Given the description of an element on the screen output the (x, y) to click on. 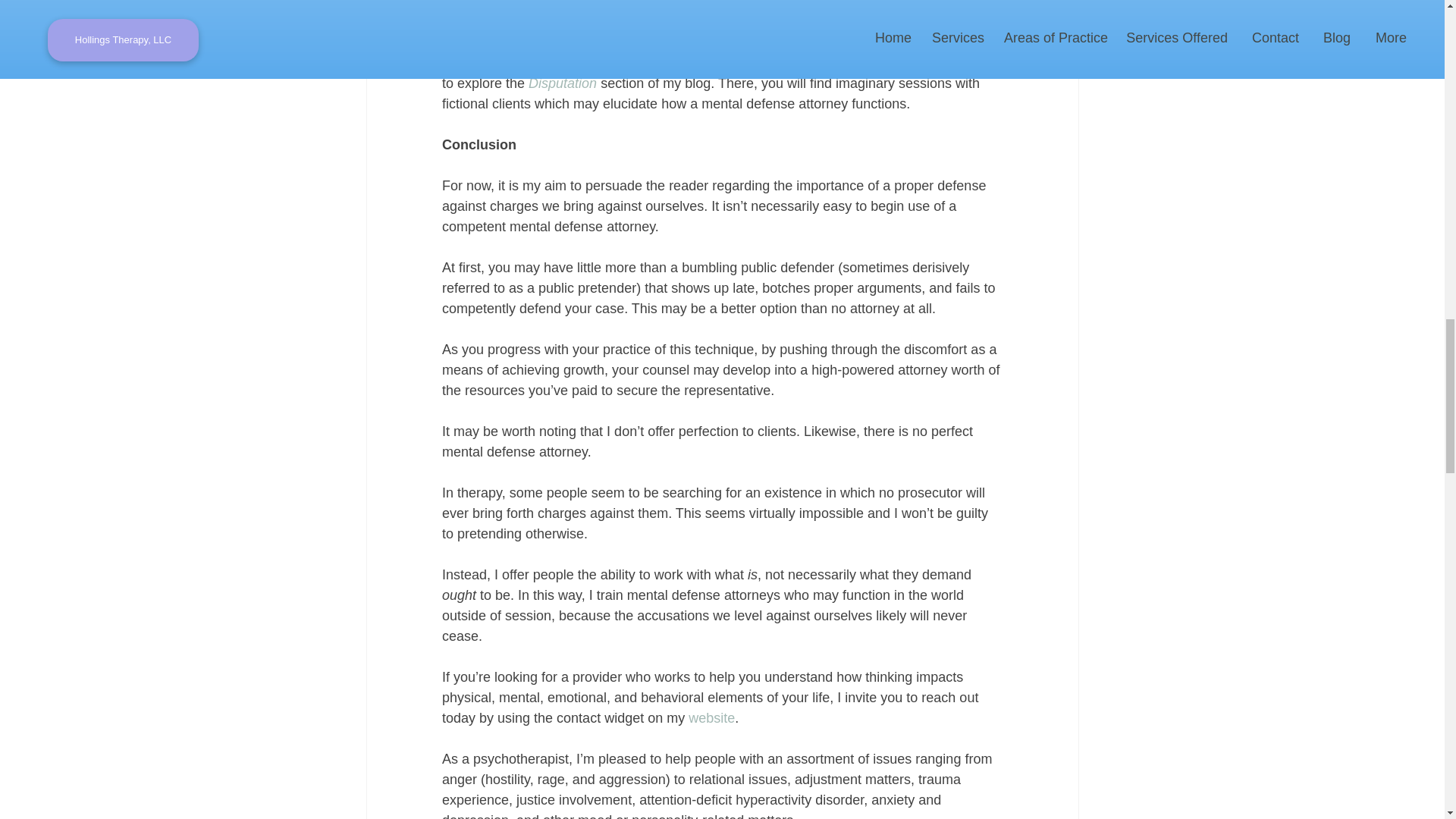
website (711, 717)
Disputation (562, 83)
a number of disputing techniques (716, 14)
